Given the description of an element on the screen output the (x, y) to click on. 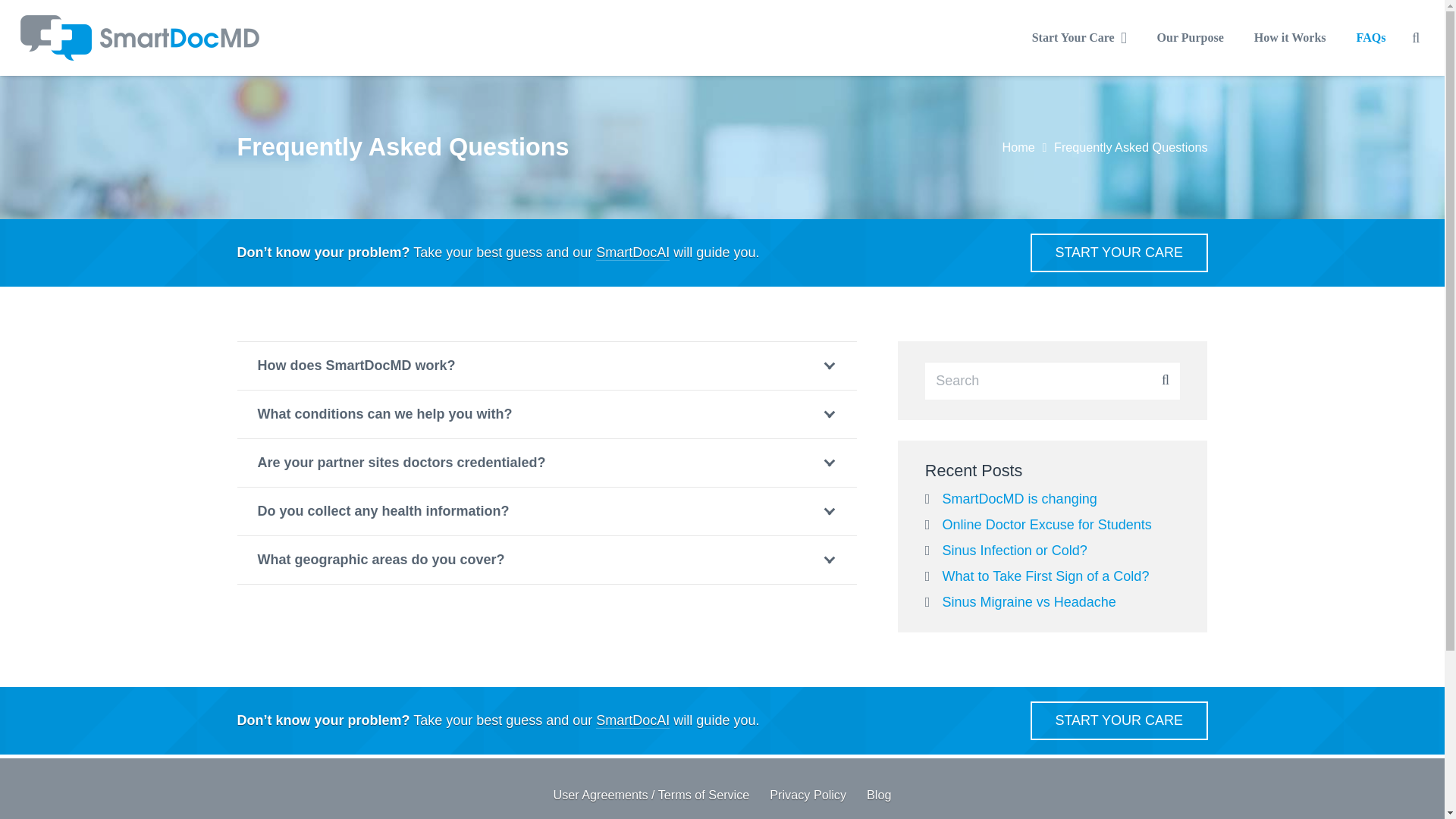
START YOUR CARE (1119, 252)
How does SmartDocMD work? (545, 365)
How it Works (1289, 37)
What to Take First Sign of a Cold? (1046, 575)
Sinus Infection or Cold? (1014, 549)
START YOUR CARE (1119, 720)
SmartDocAI (632, 252)
Home (1017, 146)
Blog (878, 794)
